Given the description of an element on the screen output the (x, y) to click on. 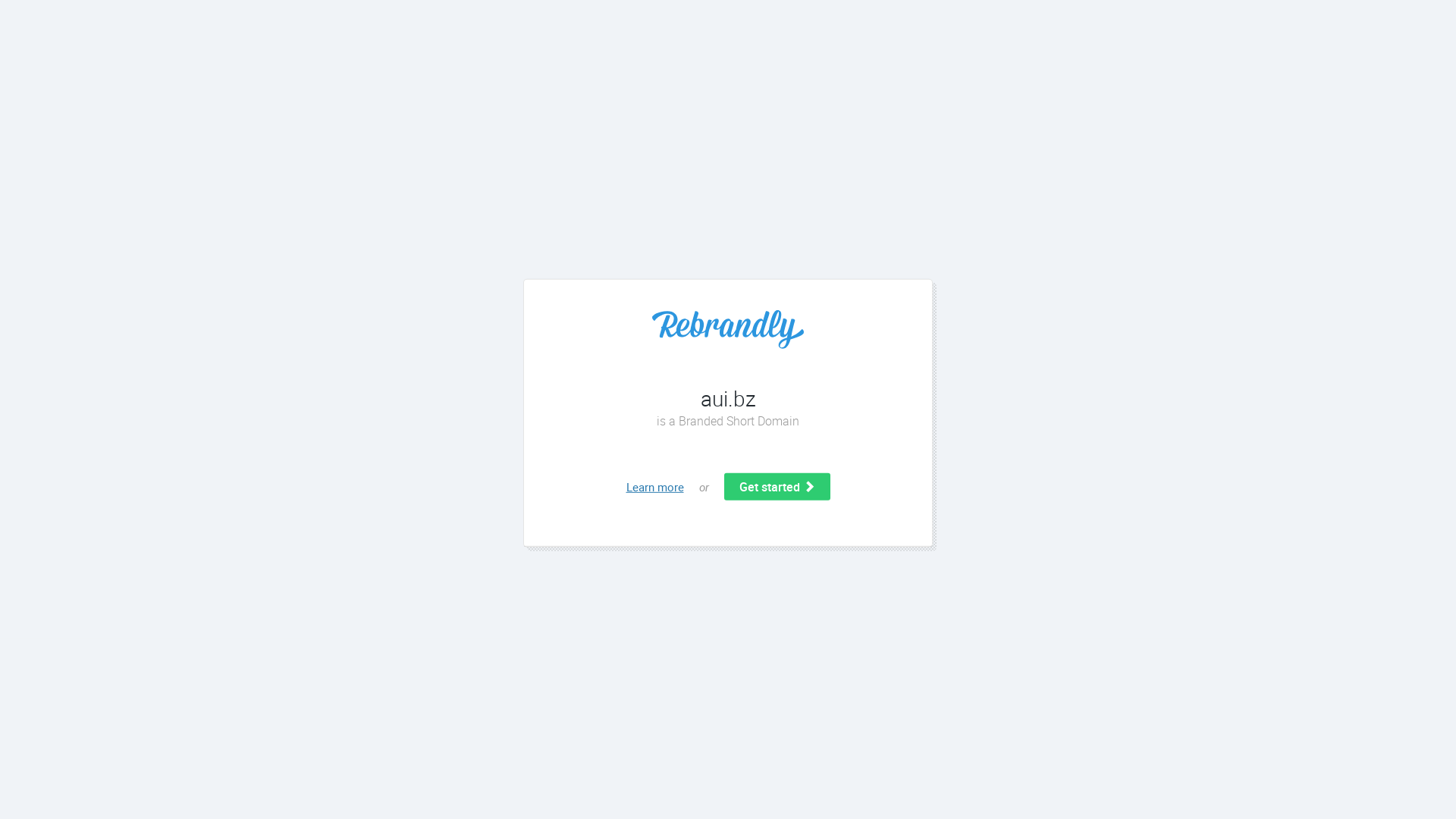
Learn more Element type: text (655, 486)
Get started Element type: text (776, 486)
